Given the description of an element on the screen output the (x, y) to click on. 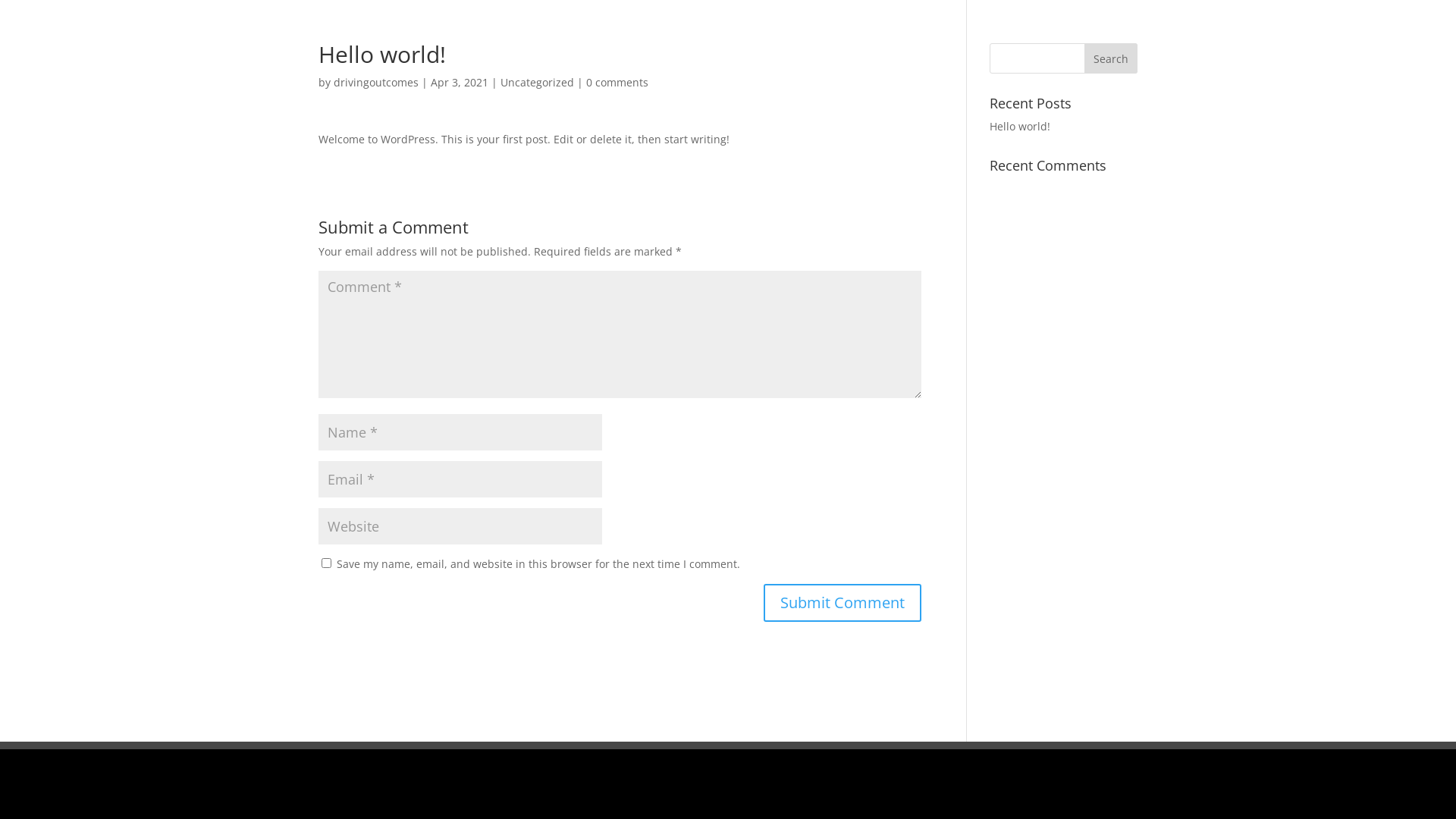
Search Element type: text (1110, 58)
Submit Comment Element type: text (842, 602)
Uncategorized Element type: text (537, 82)
Hello world! Element type: text (1019, 126)
drivingoutcomes Element type: text (375, 82)
0 comments Element type: text (617, 82)
